Given the description of an element on the screen output the (x, y) to click on. 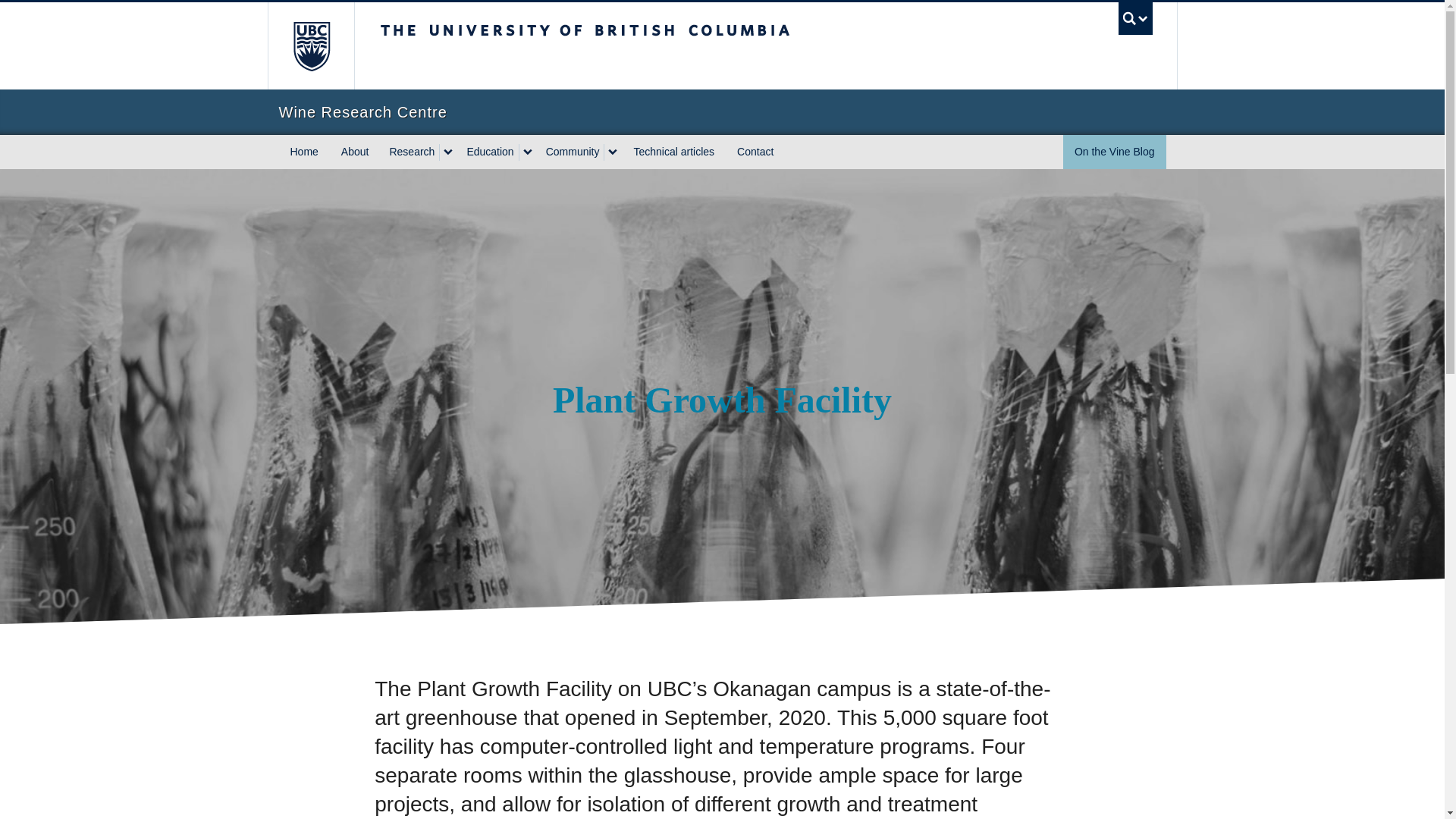
UBC Search (1135, 18)
Home (304, 151)
The University of British Columbia (309, 45)
Wine Research Centre (722, 112)
About (355, 151)
Research (409, 151)
Community (571, 151)
On the Vine Blog (1114, 151)
The University of British Columbia (635, 45)
Wine Research Centre (722, 112)
Education (487, 151)
Contact (754, 151)
Technical articles (673, 151)
